Given the description of an element on the screen output the (x, y) to click on. 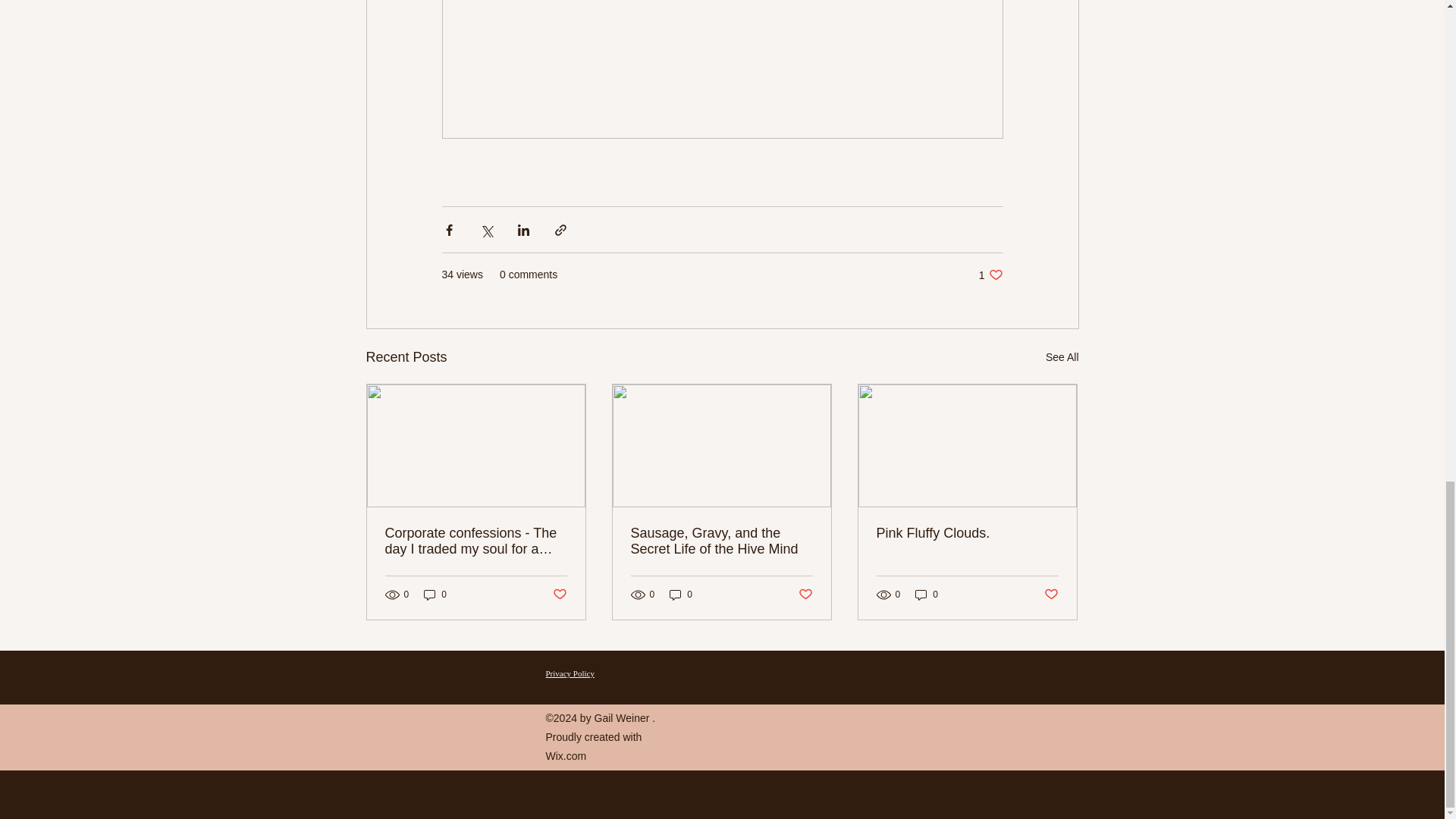
0 (435, 594)
Post not marked as liked (1050, 594)
Post not marked as liked (804, 594)
Sausage, Gravy, and the Secret Life of the Hive Mind (721, 541)
Pink Fluffy Clouds. (967, 533)
See All (990, 274)
Privacy Policy (1061, 357)
0 (570, 673)
